Given the description of an element on the screen output the (x, y) to click on. 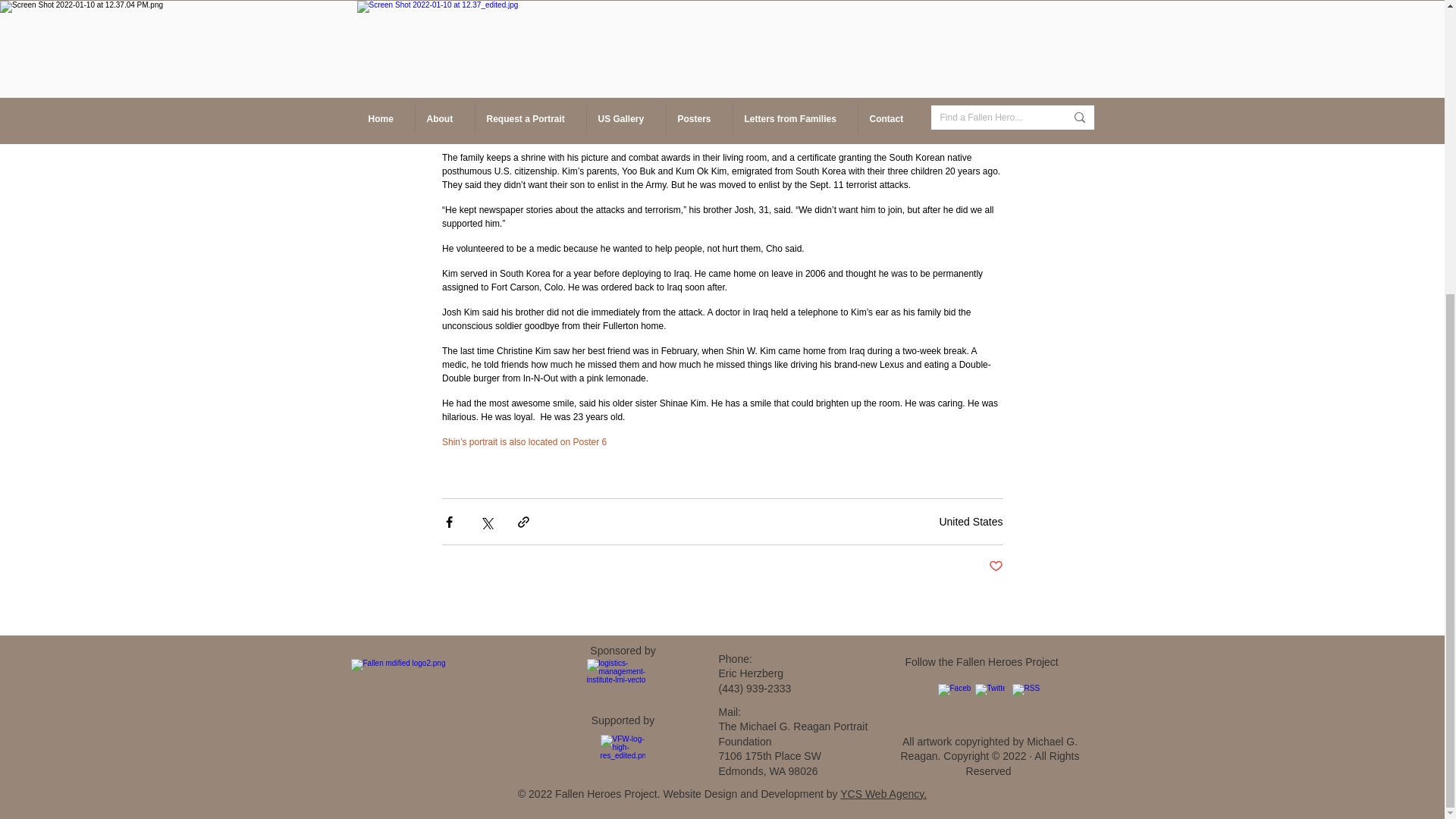
YCS Web Agency. (883, 793)
Post not marked as liked (995, 566)
Click to Download Portrait (930, 40)
United States (971, 521)
